Given the description of an element on the screen output the (x, y) to click on. 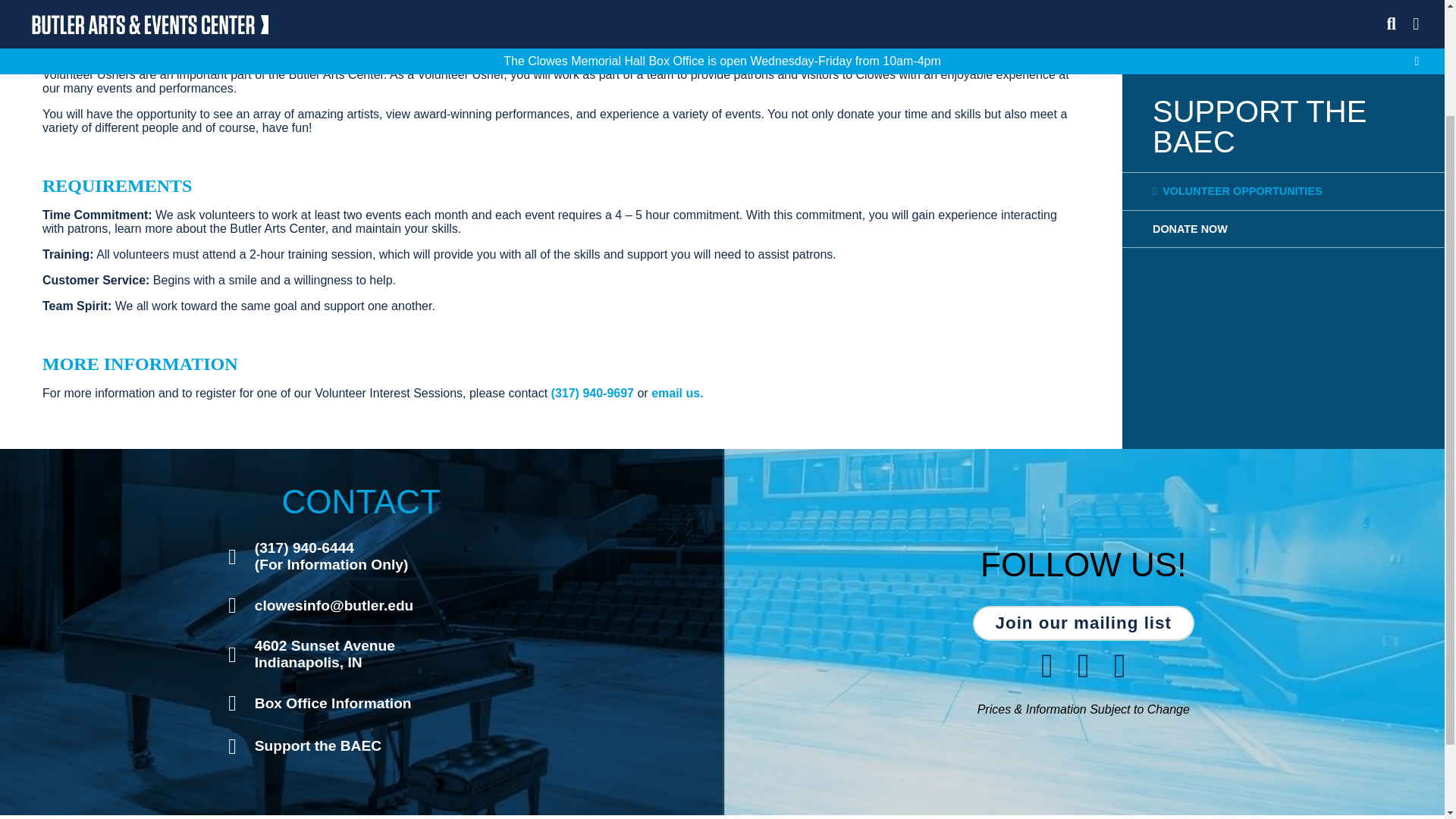
Box Office Information (360, 703)
Join our mailing list (360, 654)
email us. (1082, 623)
Support the BAEC (676, 392)
DONATE NOW (360, 746)
VOLUNTEER OPPORTUNITIES (1190, 92)
